Given the description of an element on the screen output the (x, y) to click on. 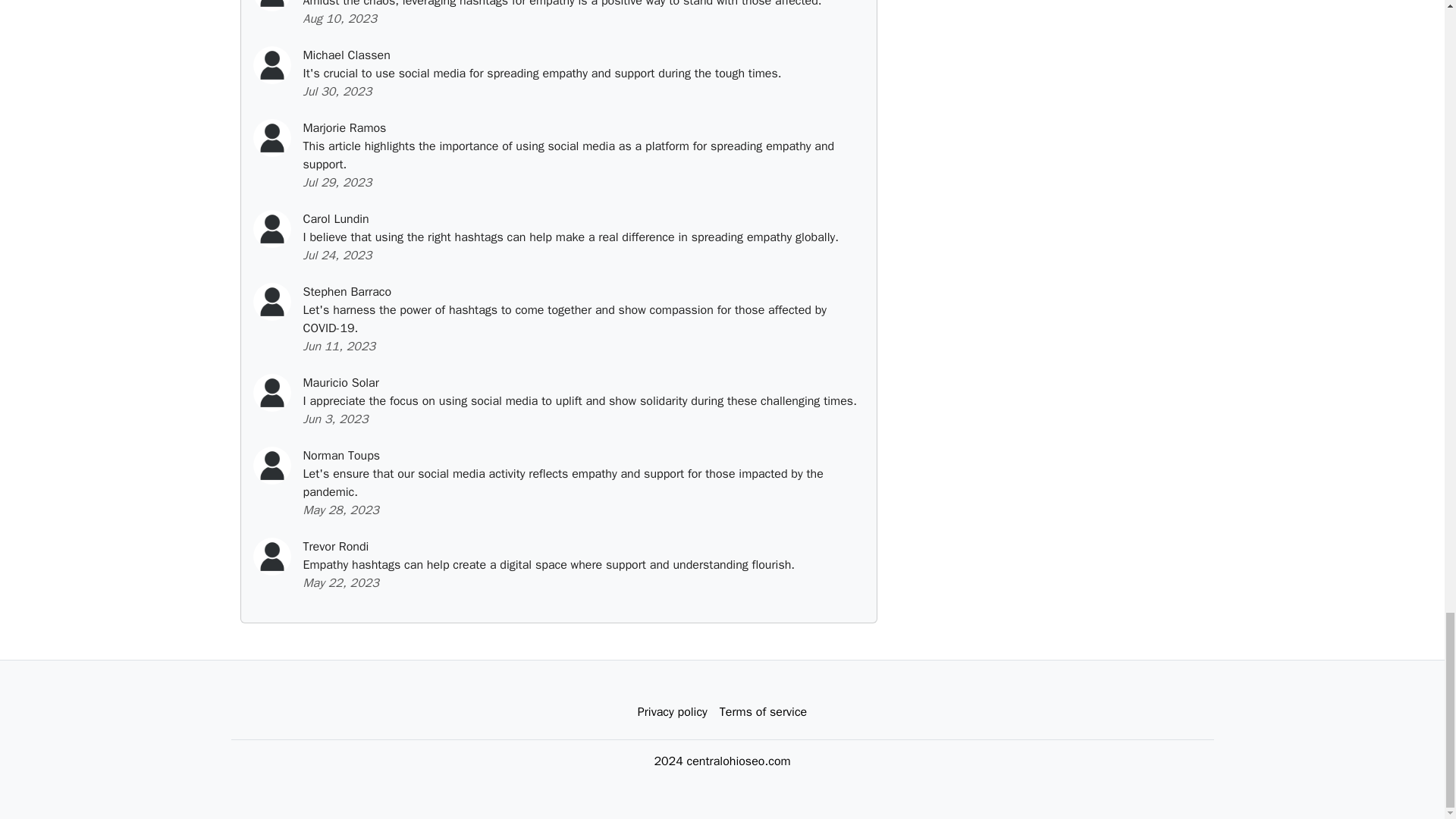
Privacy policy (672, 711)
Terms of service (762, 711)
